Given the description of an element on the screen output the (x, y) to click on. 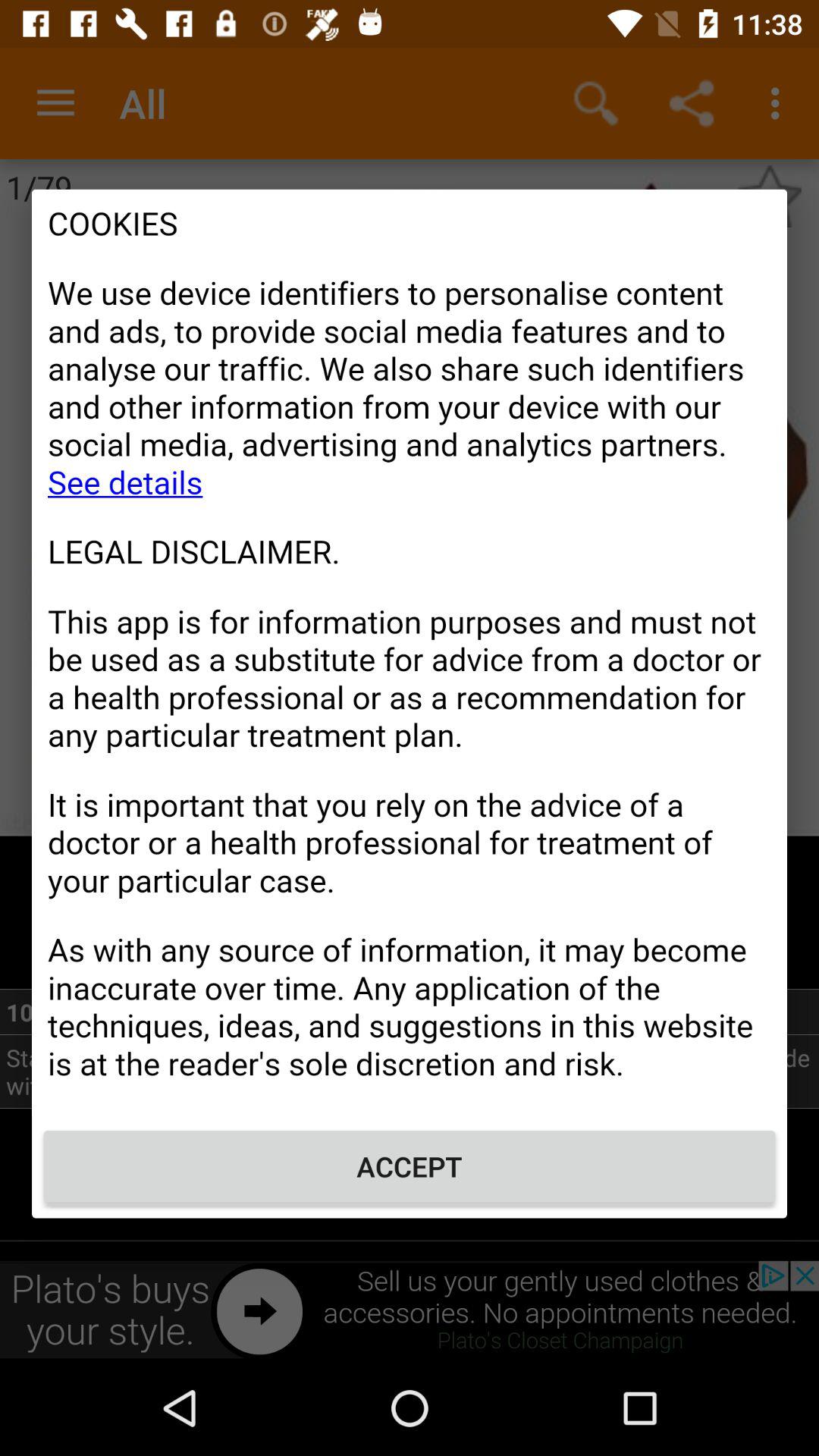
disclaimer page (409, 651)
